Given the description of an element on the screen output the (x, y) to click on. 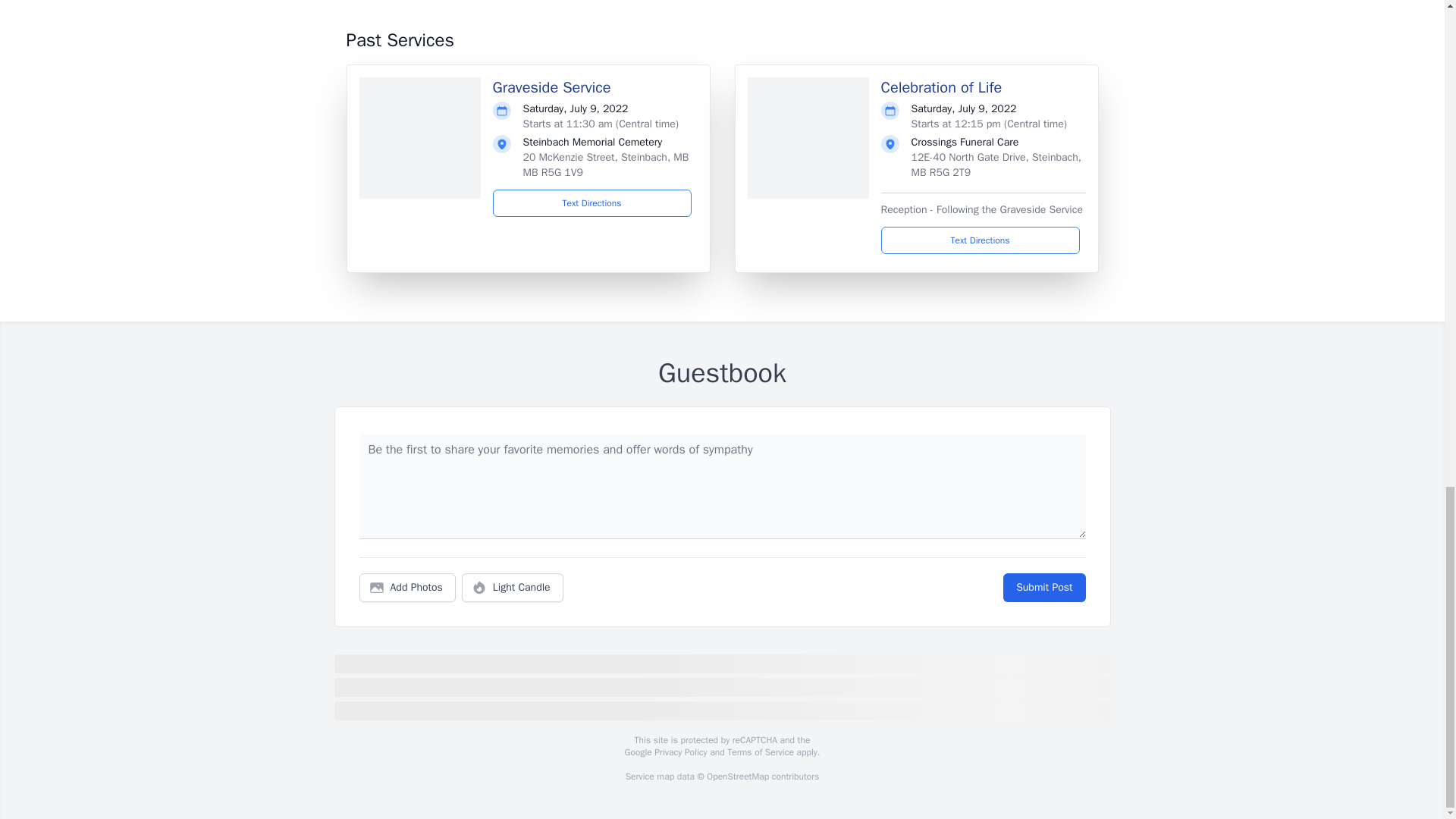
Privacy Policy (679, 752)
Terms of Service (759, 752)
Text Directions (980, 239)
20 McKenzie Street, Steinbach, MB MB R5G 1V9 (605, 164)
Submit Post (1043, 587)
OpenStreetMap (737, 776)
Text Directions (592, 203)
Add Photos (407, 587)
12E-40 North Gate Drive, Steinbach, MB R5G 2T9 (996, 164)
Light Candle (512, 587)
